Given the description of an element on the screen output the (x, y) to click on. 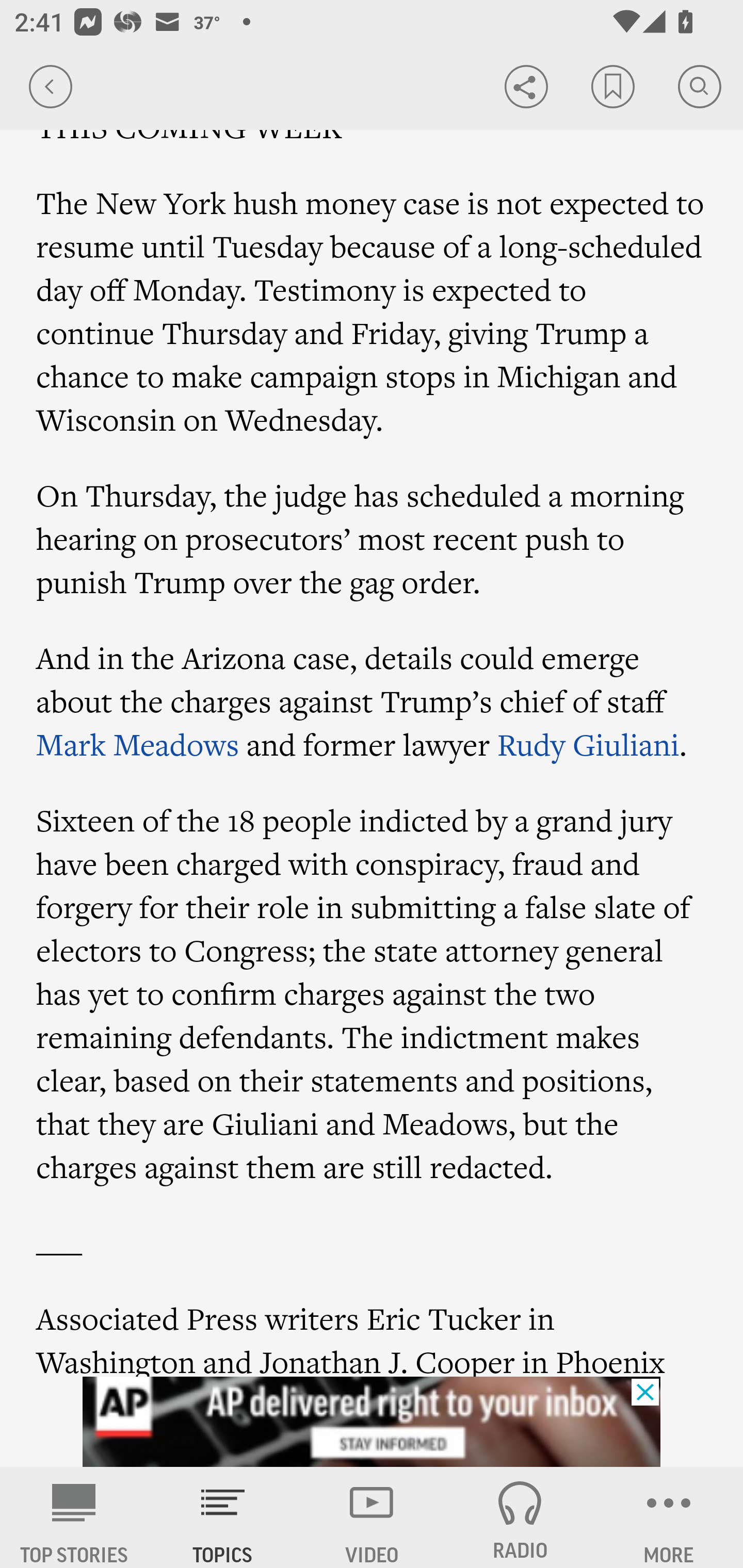
Mark Meadows (137, 743)
Rudy Giuliani (588, 743)
AP News TOP STORIES (74, 1517)
TOPICS (222, 1517)
VIDEO (371, 1517)
RADIO (519, 1517)
MORE (668, 1517)
